Given the description of an element on the screen output the (x, y) to click on. 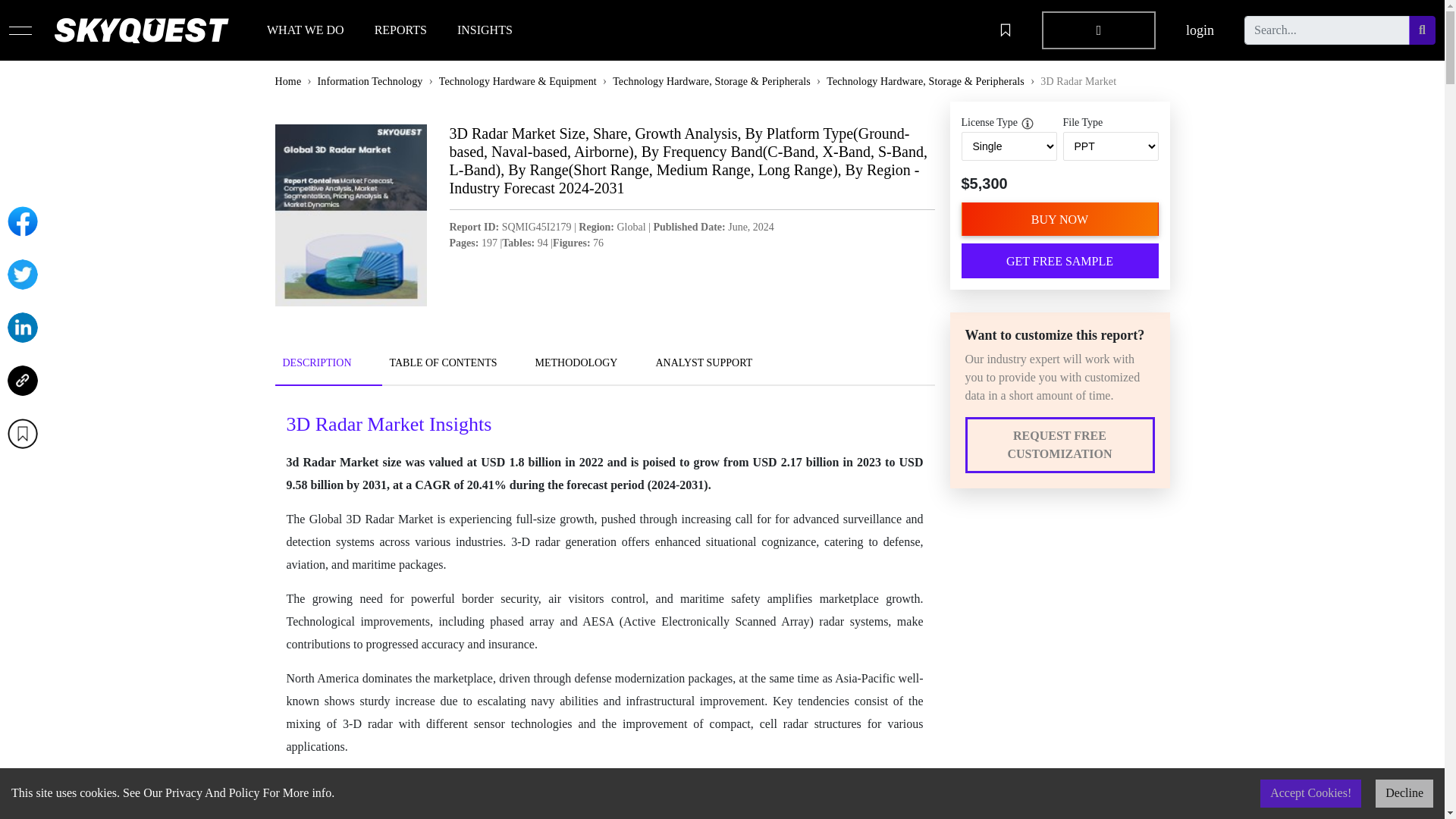
WHAT WE DO (304, 30)
Consulting Services (561, 667)
Insight Services (551, 645)
twitter (977, 556)
linkedin (981, 601)
Linkedin (22, 327)
Contact Us (319, 645)
Facebook (22, 221)
Technology Services (563, 556)
facebook (983, 579)
Home (306, 556)
International Development (577, 601)
Cookies (750, 579)
Twitter (22, 274)
Data Analytics Services (570, 623)
